Given the description of an element on the screen output the (x, y) to click on. 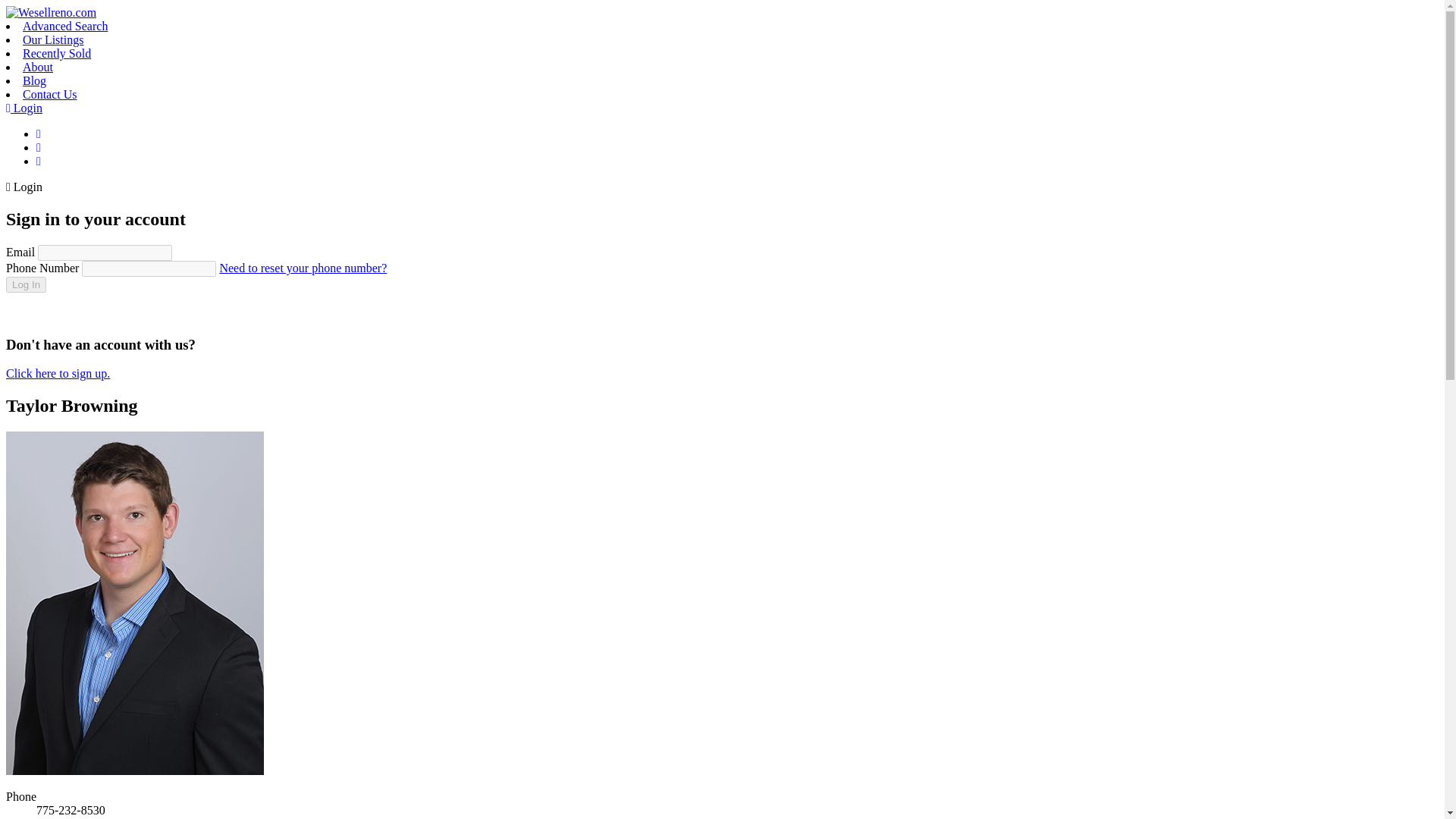
Open contact form (38, 133)
Wesellreno.com (50, 12)
About (37, 66)
Blog (34, 80)
Menu (38, 160)
Recently Sold (56, 52)
Login or Signup (38, 146)
Log In (25, 284)
Login (23, 107)
Contact Us (50, 93)
Advanced Search (65, 25)
Our Listings (52, 39)
Need to reset your phone number? (303, 267)
Click here to sign up. (57, 373)
